Given the description of an element on the screen output the (x, y) to click on. 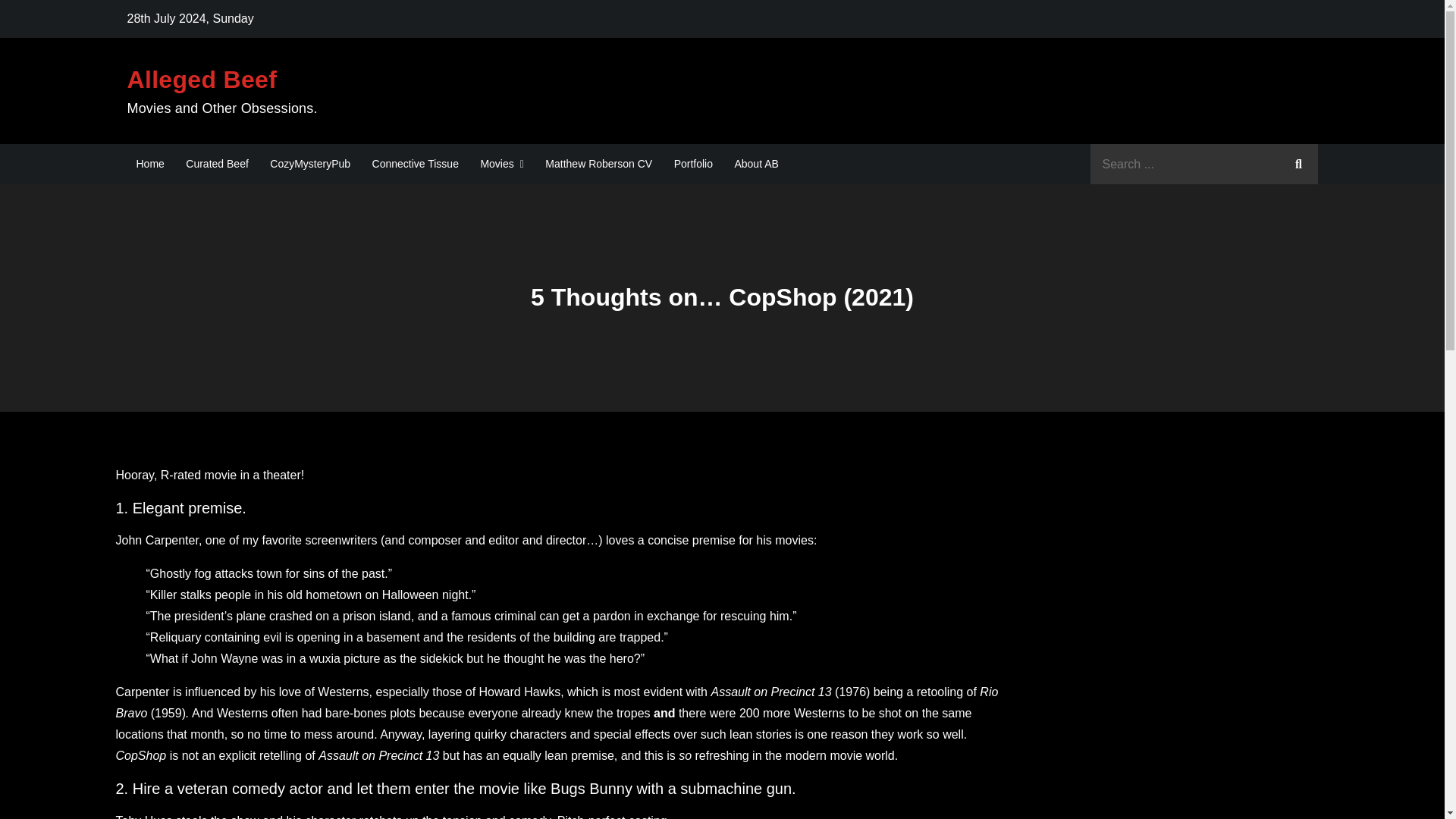
Portfolio (693, 163)
Home (150, 163)
Search for: (1203, 164)
Curated Beef (216, 163)
About AB (756, 163)
Alleged Beef (203, 79)
CozyMysteryPub (309, 163)
Connective Tissue (414, 163)
Matthew Roberson CV (598, 163)
Search (1298, 164)
Movies (501, 164)
